Given the description of an element on the screen output the (x, y) to click on. 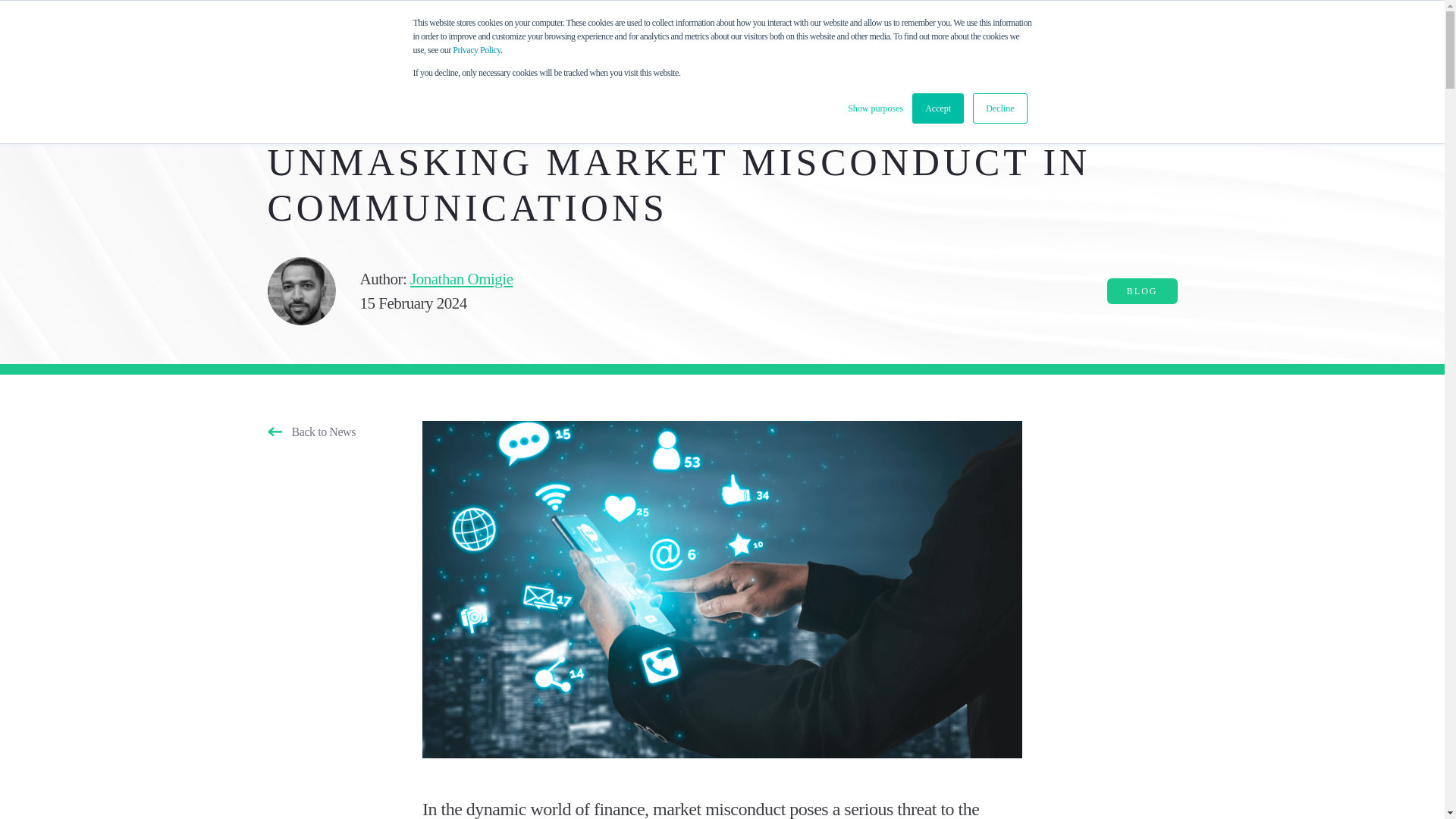
Accept (937, 108)
Decline (999, 108)
Show purposes (874, 108)
RESOURCES (967, 41)
DATA CONNECTORS (557, 36)
SOLUTIONS (681, 41)
ABOUT (877, 41)
Privacy Policy (476, 50)
INDUSTRIES (786, 41)
